Given the description of an element on the screen output the (x, y) to click on. 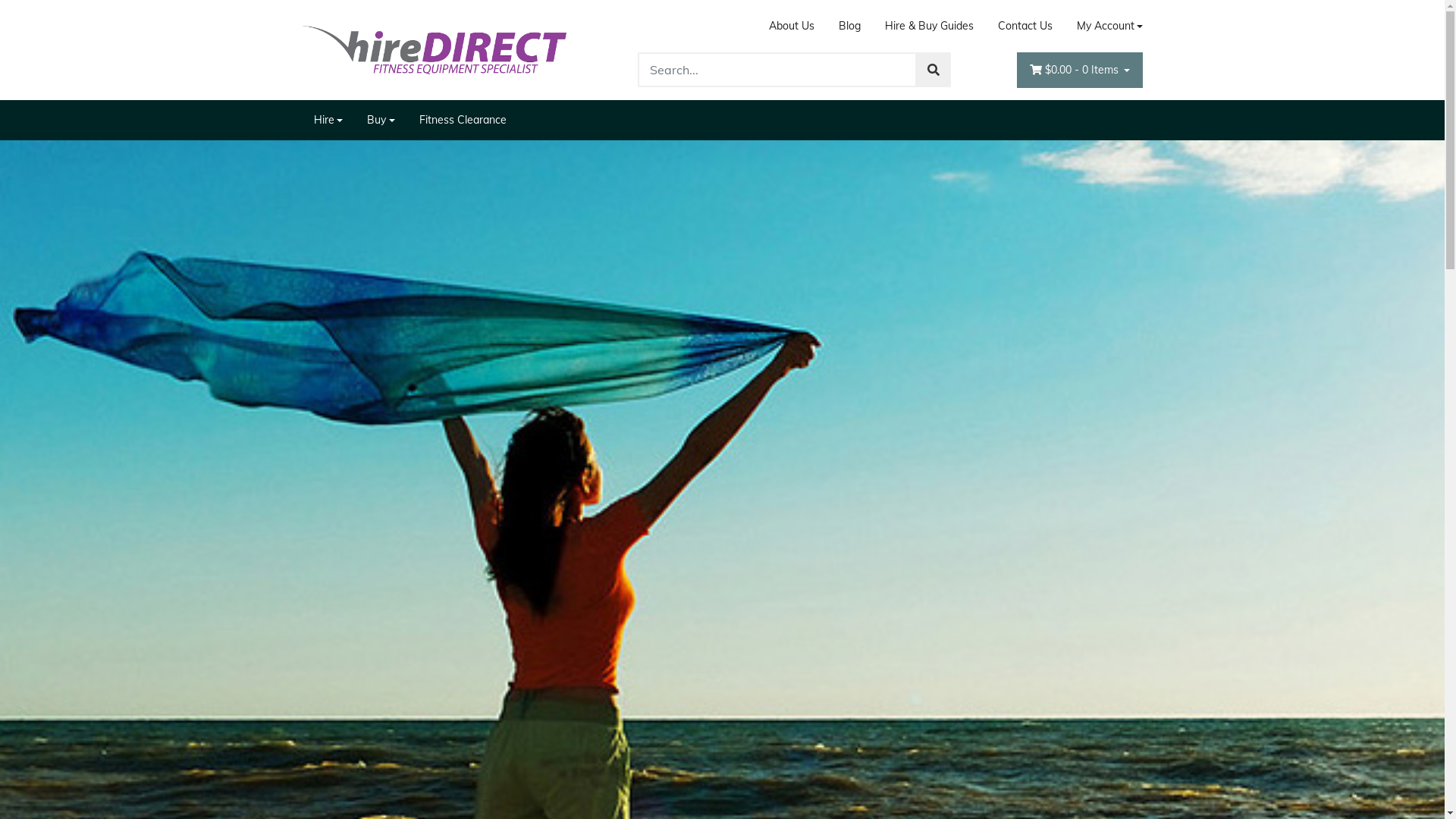
Blog Element type: text (849, 26)
Search Element type: text (933, 69)
About Us Element type: text (791, 26)
Hire Direct Element type: hover (434, 49)
My Account Element type: text (1103, 26)
Contact Us Element type: text (1024, 26)
Buy Element type: text (380, 120)
$0.00 - 0 Items Element type: text (1079, 69)
Hire & Buy Guides Element type: text (928, 26)
Hire Element type: text (328, 120)
Fitness Clearance Element type: text (462, 120)
